Given the description of an element on the screen output the (x, y) to click on. 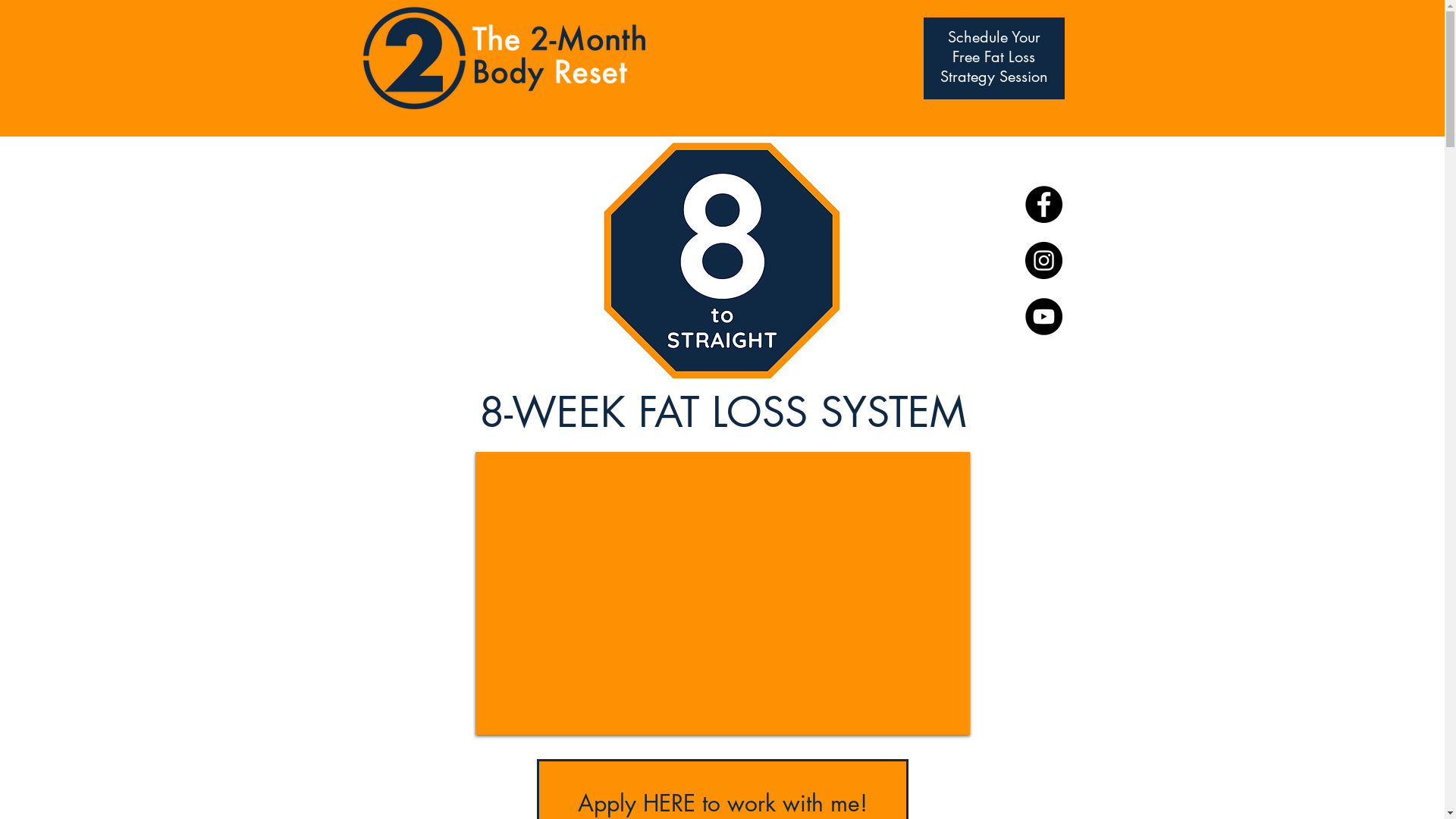
Schedule Your
Free Fat Loss Strategy Session Element type: text (994, 56)
External Vimeo Element type: hover (722, 593)
